Given the description of an element on the screen output the (x, y) to click on. 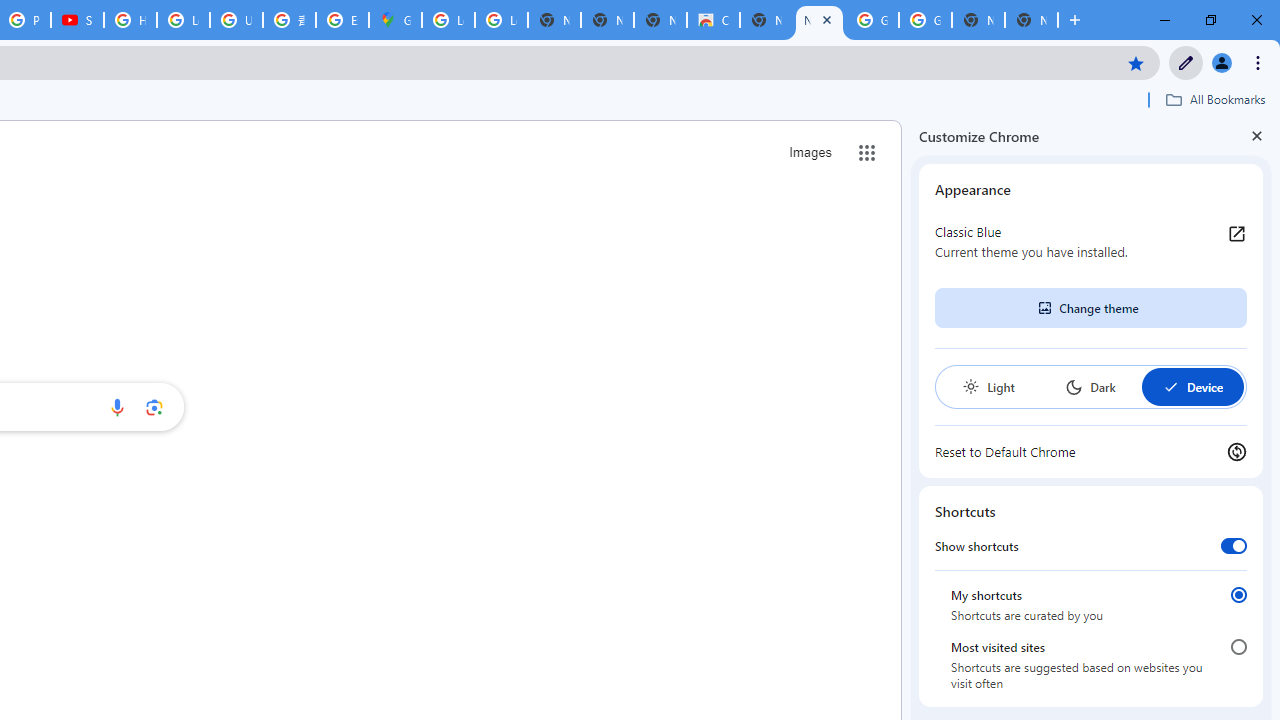
Dark (1090, 386)
My shortcuts (1238, 594)
Google Maps (395, 20)
Google Images (872, 20)
Chrome Web Store (713, 20)
Google apps (867, 152)
Search for Images  (810, 152)
Subscriptions - YouTube (77, 20)
All Bookmarks (1215, 99)
How Chrome protects your passwords - Google Chrome Help (130, 20)
